Given the description of an element on the screen output the (x, y) to click on. 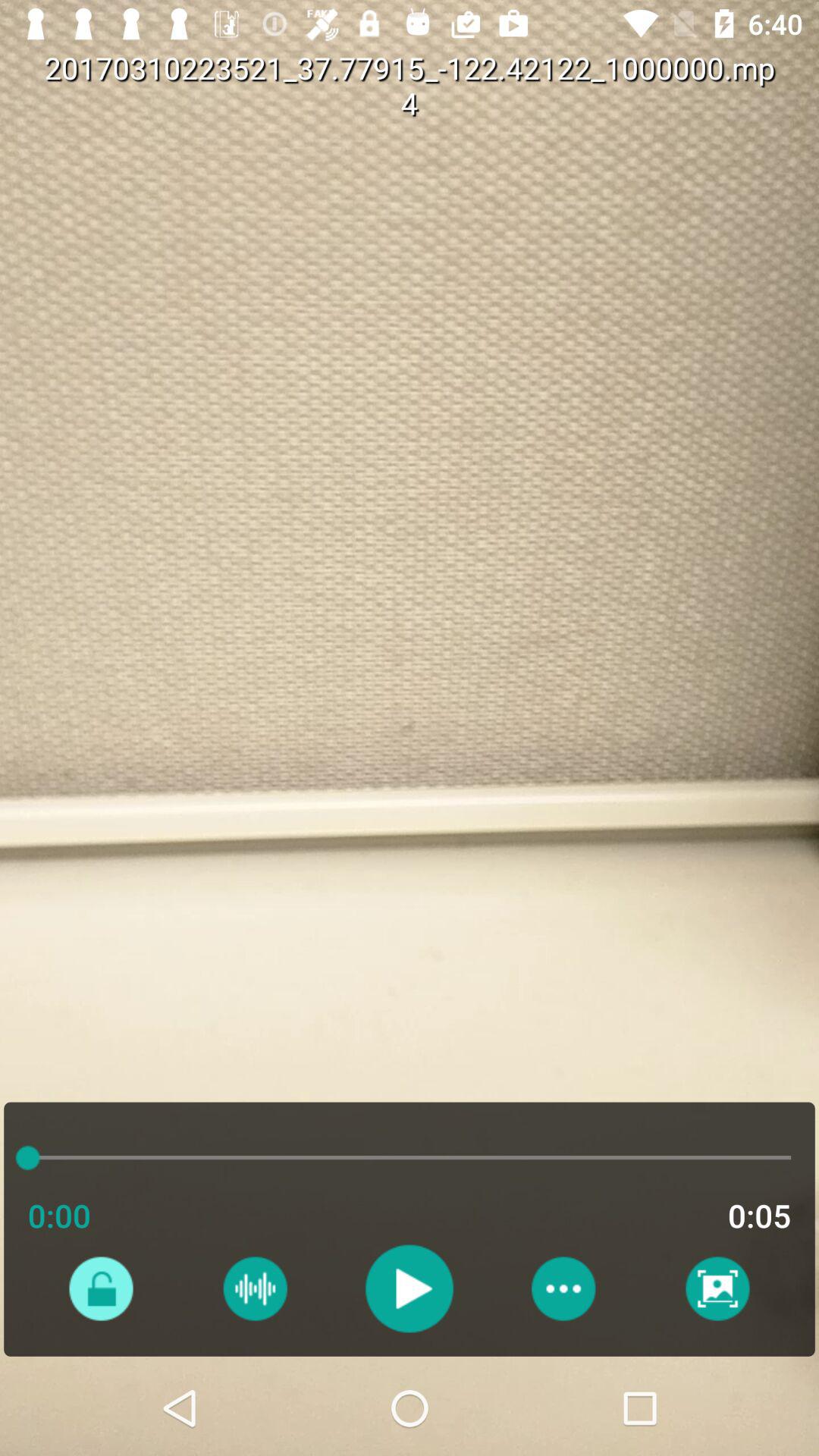
make private (100, 1288)
